Given the description of an element on the screen output the (x, y) to click on. 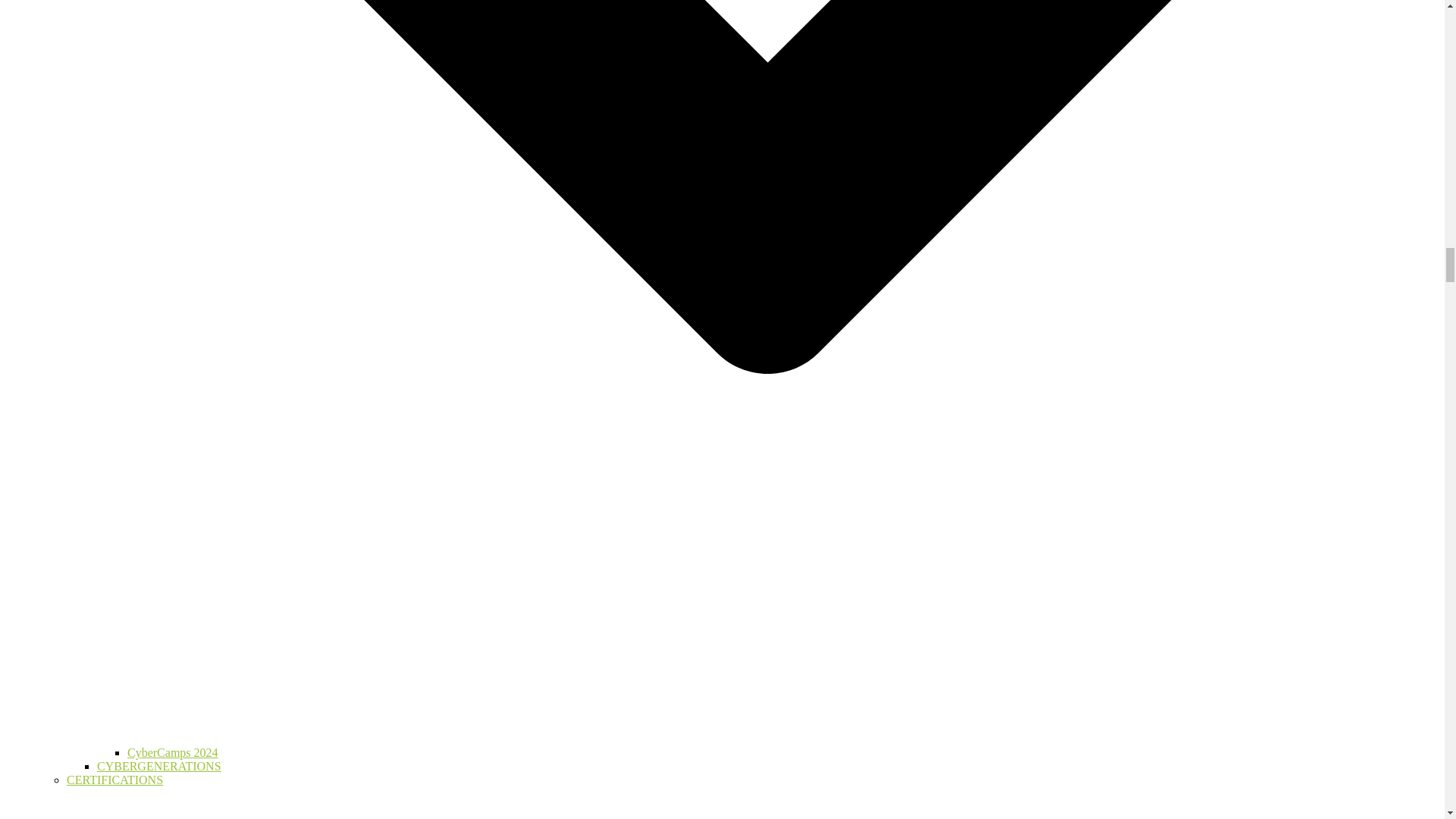
CYBERGENERATIONS (159, 766)
CyberCamps 2024 (173, 752)
CYBERGENERATIONS (159, 766)
CyberCamps 2024 (173, 752)
